Given the description of an element on the screen output the (x, y) to click on. 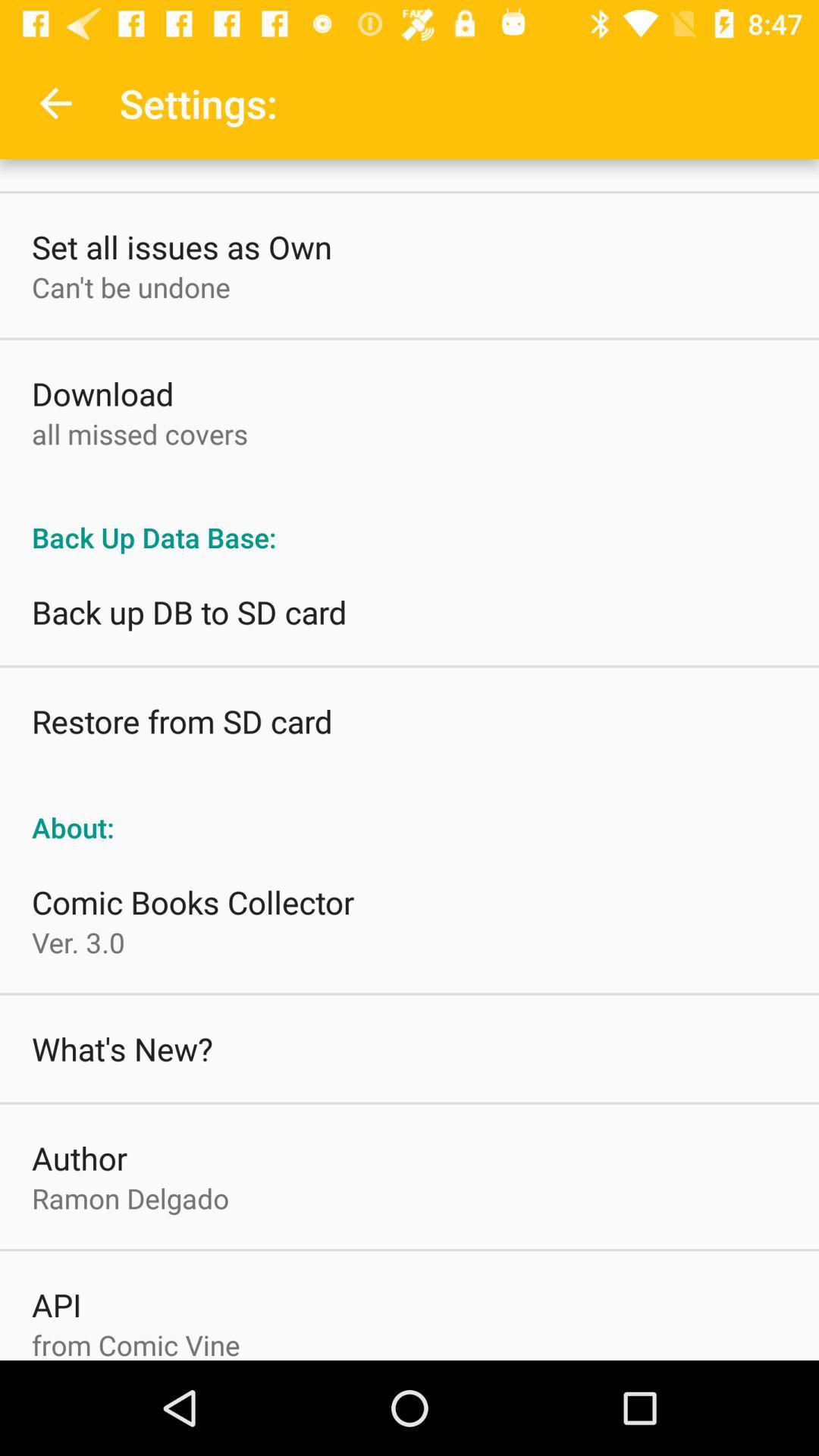
launch can t be (130, 286)
